Given the description of an element on the screen output the (x, y) to click on. 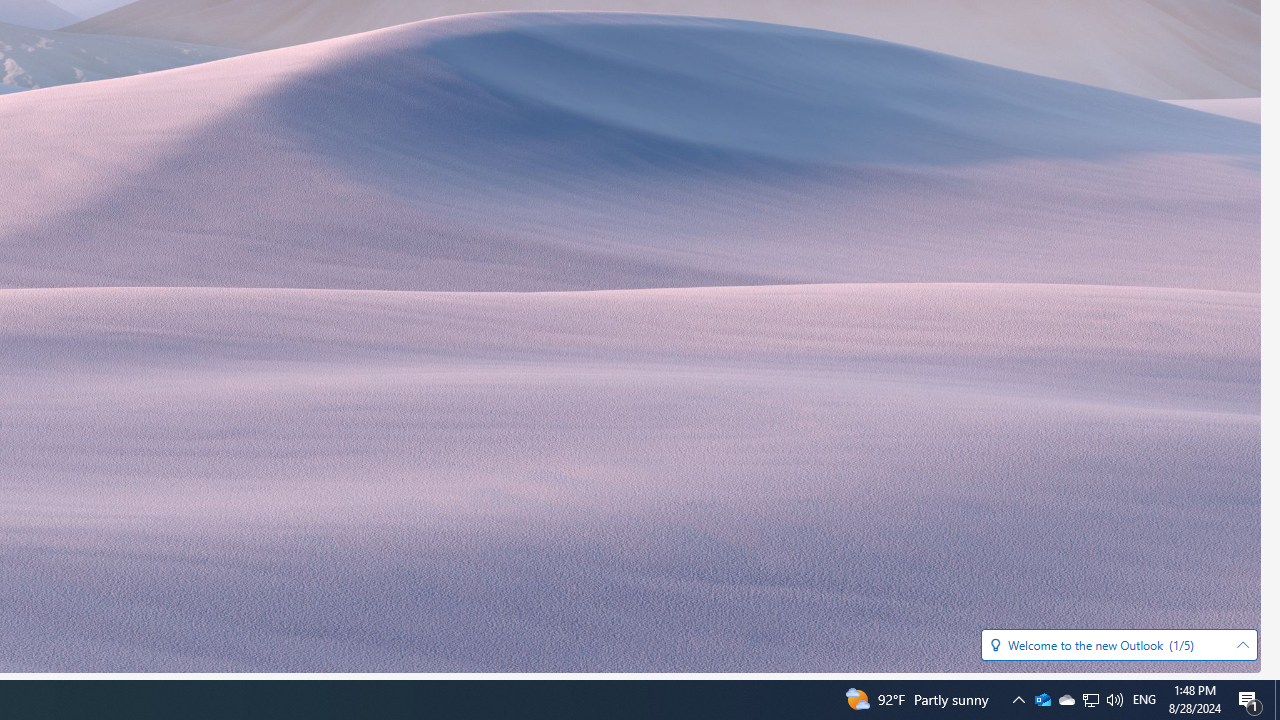
Open (1242, 645)
